Given the description of an element on the screen output the (x, y) to click on. 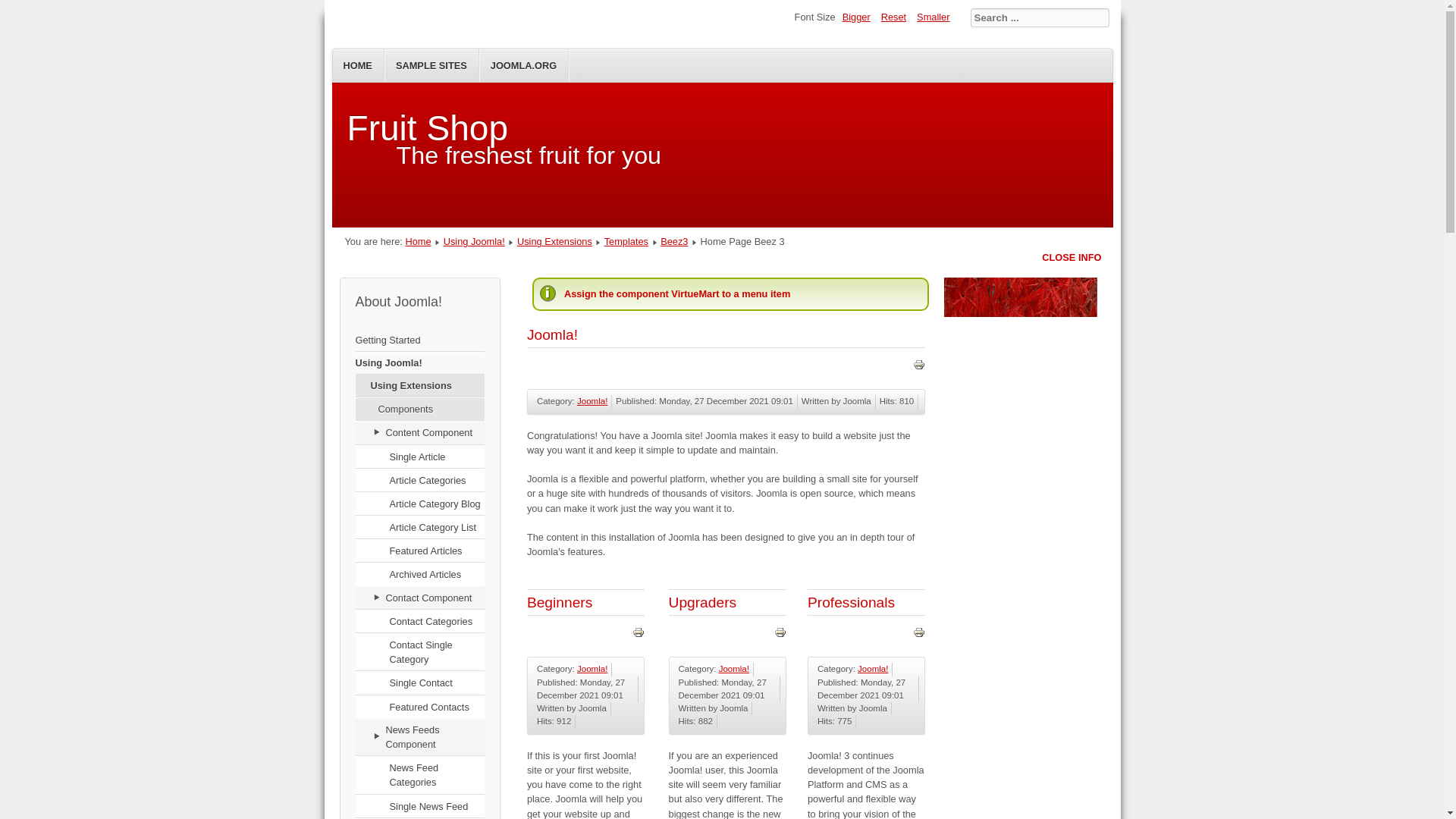
Content Component (419, 432)
Article Category Blog (419, 504)
Contact Component (419, 598)
Single Contact (419, 682)
News Feeds Component (419, 737)
Decrease size (932, 16)
Article Categories (419, 480)
Using Extensions (554, 241)
Contact Single Category (419, 651)
JOOMLA.ORG (524, 65)
Archived Articles (419, 574)
Article Category List (419, 527)
Home (417, 241)
Single Article (419, 456)
Bigger (856, 16)
